Given the description of an element on the screen output the (x, y) to click on. 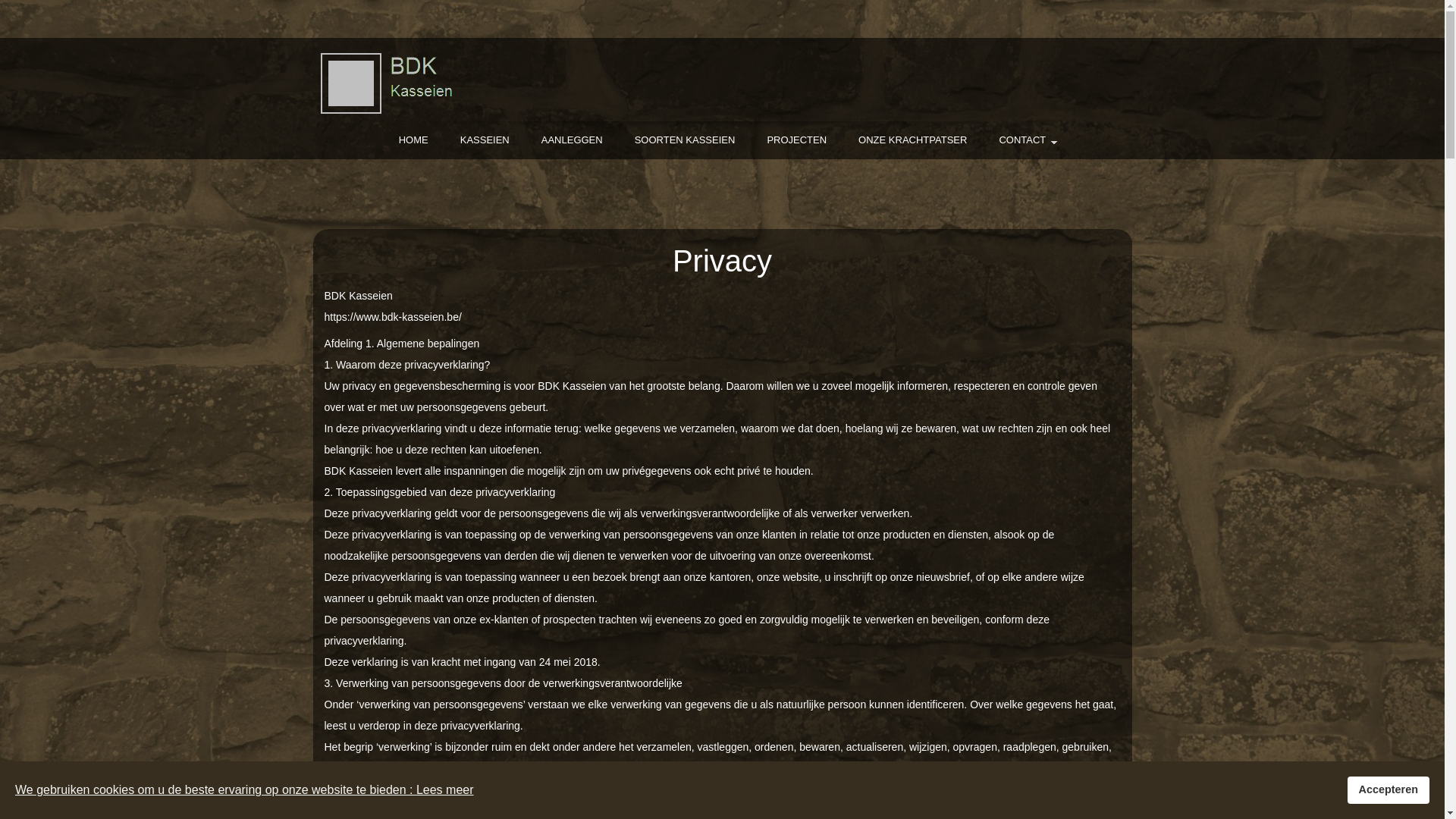
PROJECTEN Element type: text (796, 140)
Accepteren Element type: text (1388, 789)
KASSEIEN Element type: text (484, 140)
SOORTEN KASSEIEN Element type: text (684, 140)
Lees meer Element type: text (444, 789)
HOME Element type: text (413, 140)
AANLEGGEN Element type: text (571, 140)
ONZE KRACHTPATSER Element type: text (912, 140)
CONTACT Element type: text (1021, 140)
